Given the description of an element on the screen output the (x, y) to click on. 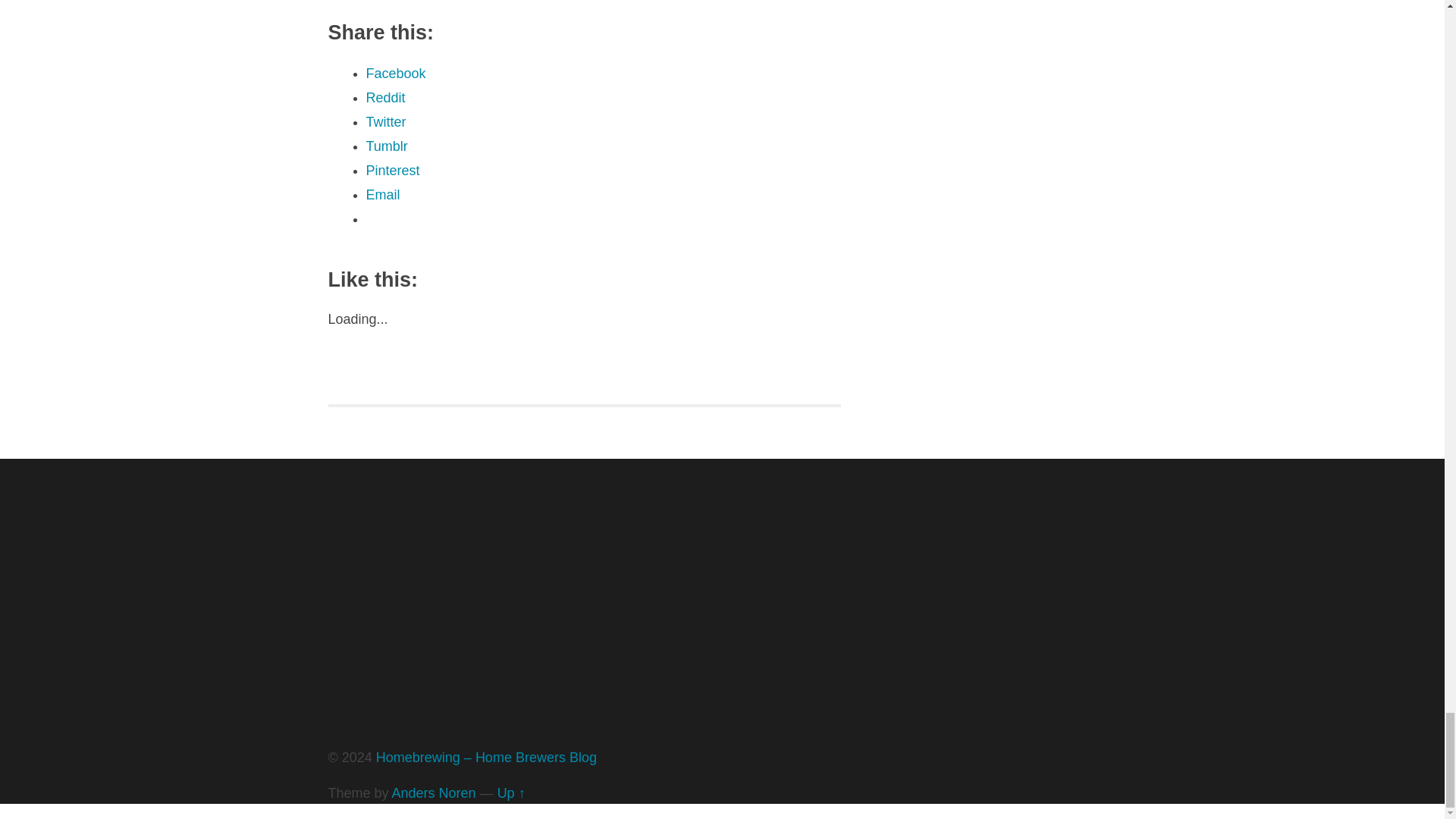
Click to share on Facebook (395, 73)
